Given the description of an element on the screen output the (x, y) to click on. 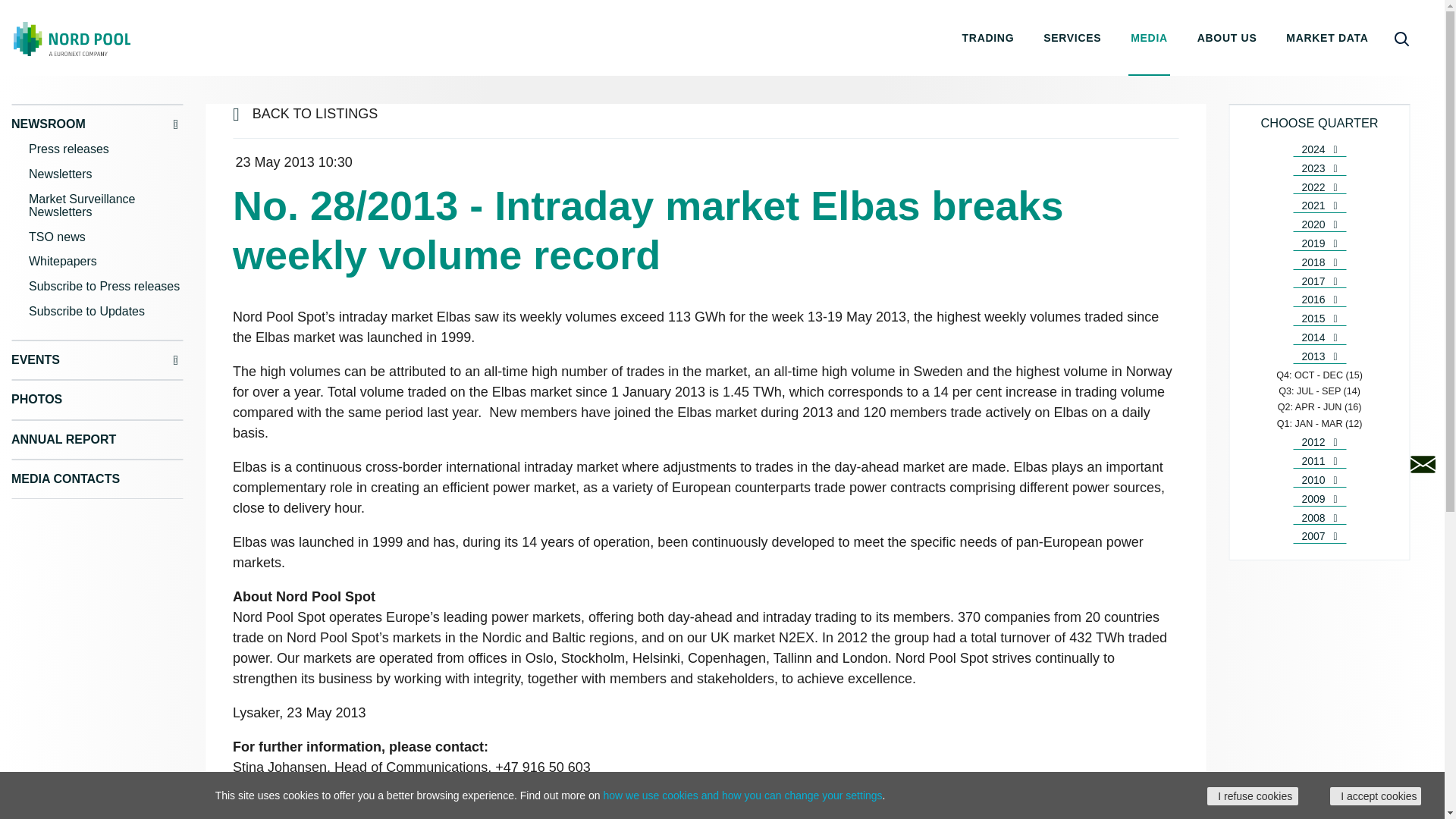
I refuse cookies (1252, 796)
how we use cookies and how you can change your settings (742, 795)
I accept cookies (1375, 796)
